Given the description of an element on the screen output the (x, y) to click on. 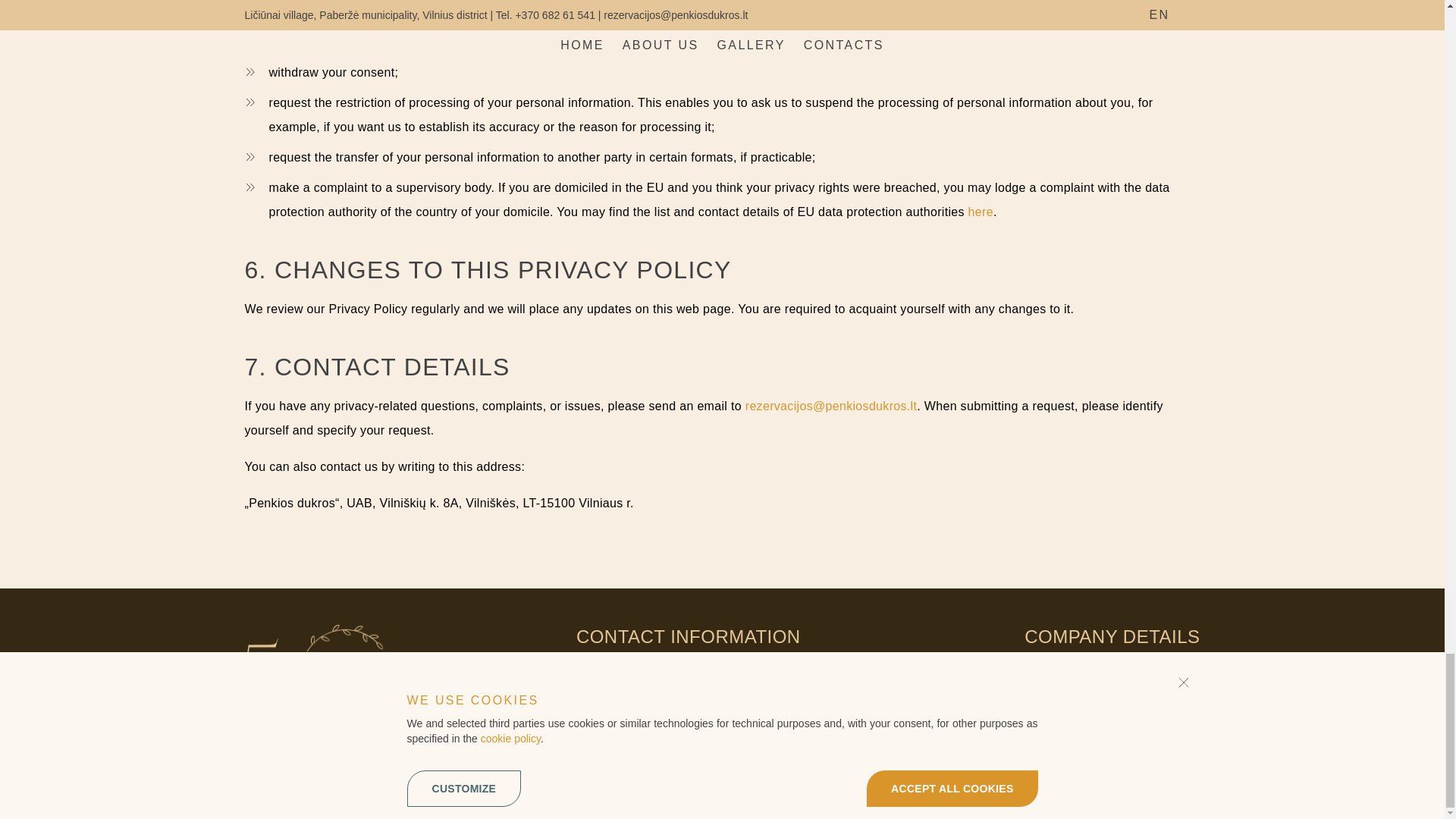
Cookies policy (1154, 748)
Maps.lt (623, 688)
here (980, 211)
Privacy policy (1063, 748)
Google Maps (680, 688)
